Given the description of an element on the screen output the (x, y) to click on. 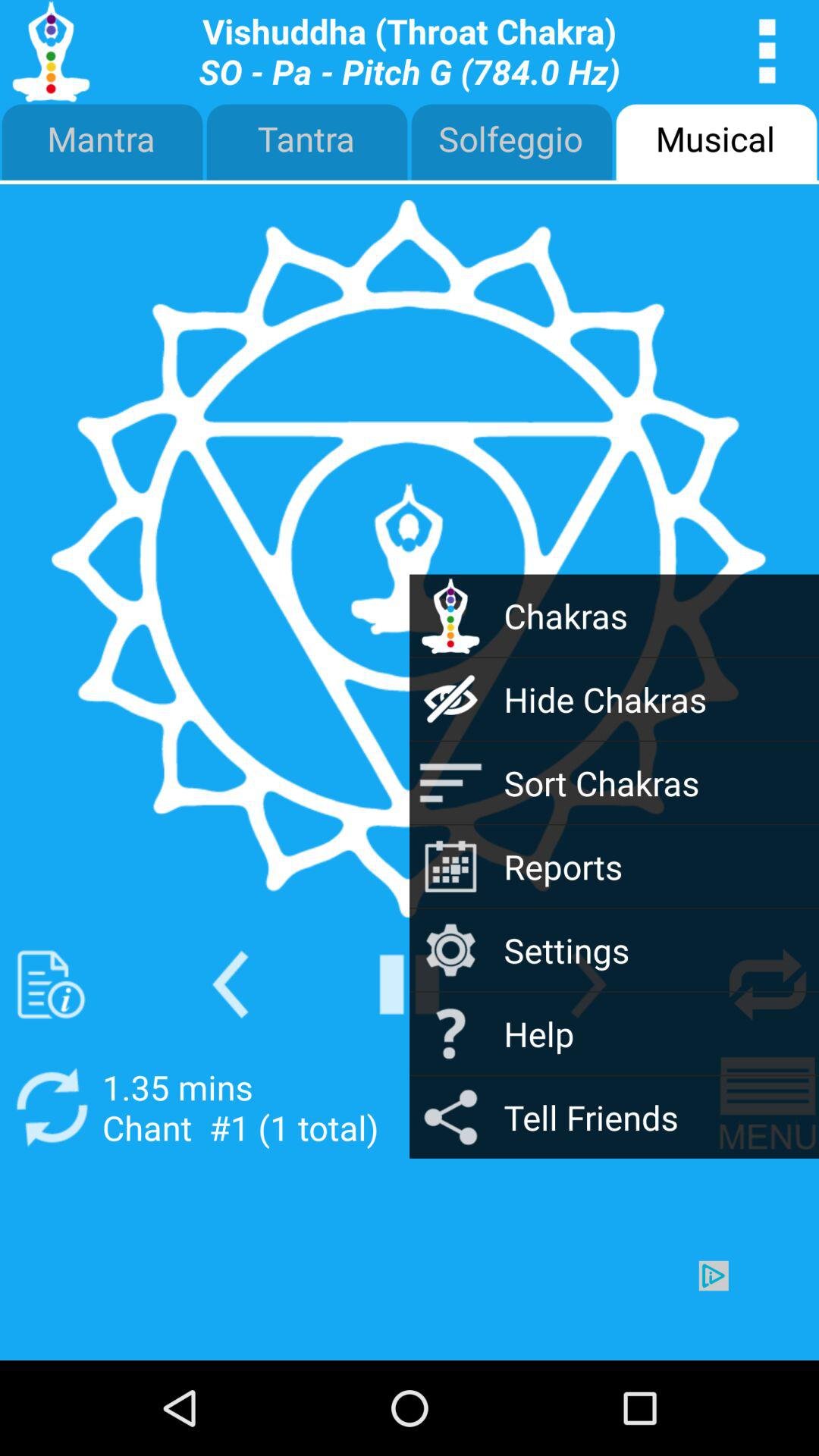
settings (588, 984)
